Given the description of an element on the screen output the (x, y) to click on. 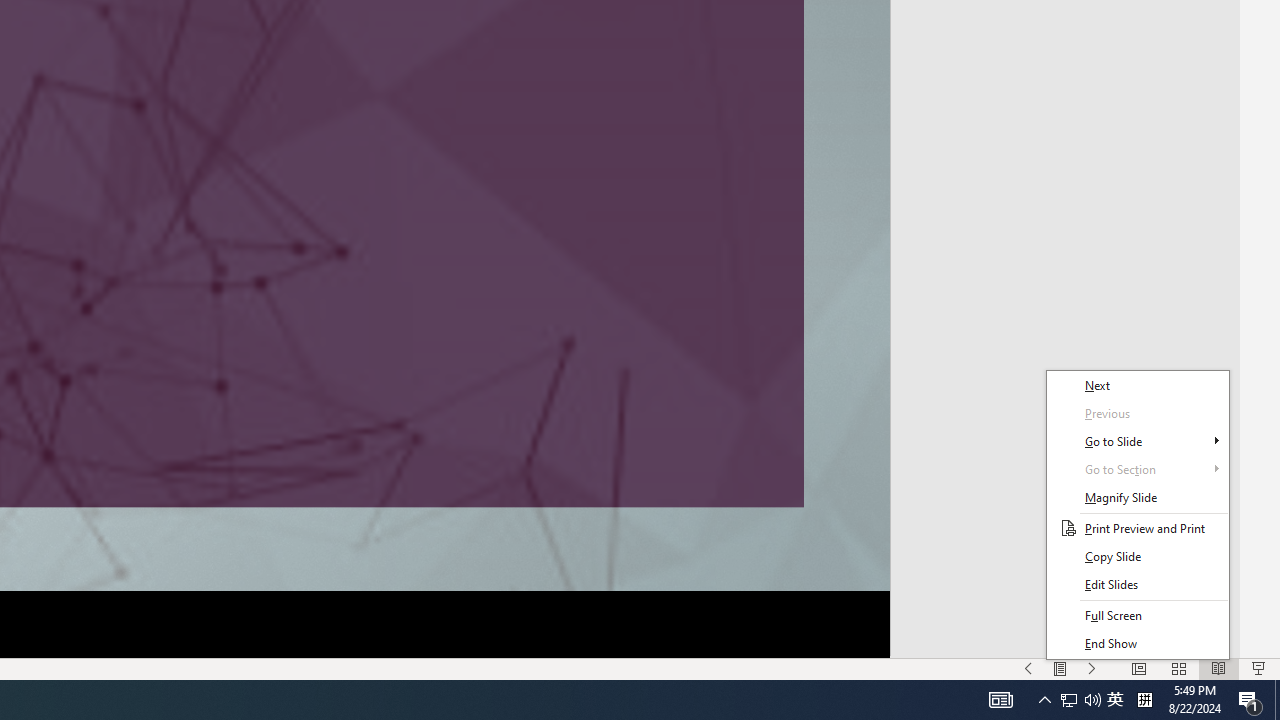
Class: NetUITWMenuContainer (1137, 515)
Previous (1137, 413)
Next (1137, 386)
Print Preview and Print (1137, 528)
Magnify Slide (1137, 497)
Action Center, 1 new notification (1250, 699)
Context Menu (1137, 515)
Go to Section (1137, 469)
Slide Show Previous On (1028, 668)
